Given the description of an element on the screen output the (x, y) to click on. 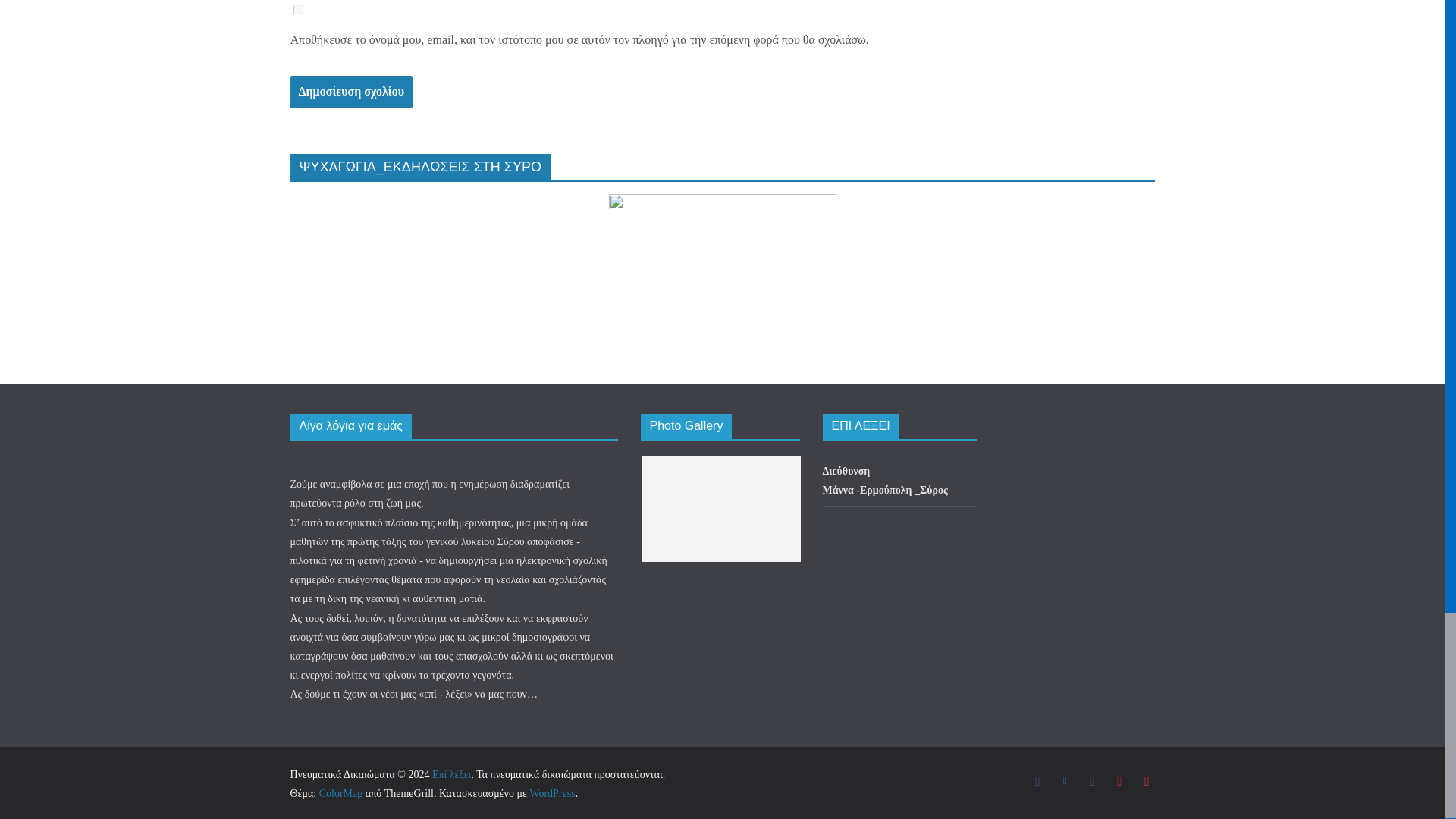
yes (297, 9)
